Given the description of an element on the screen output the (x, y) to click on. 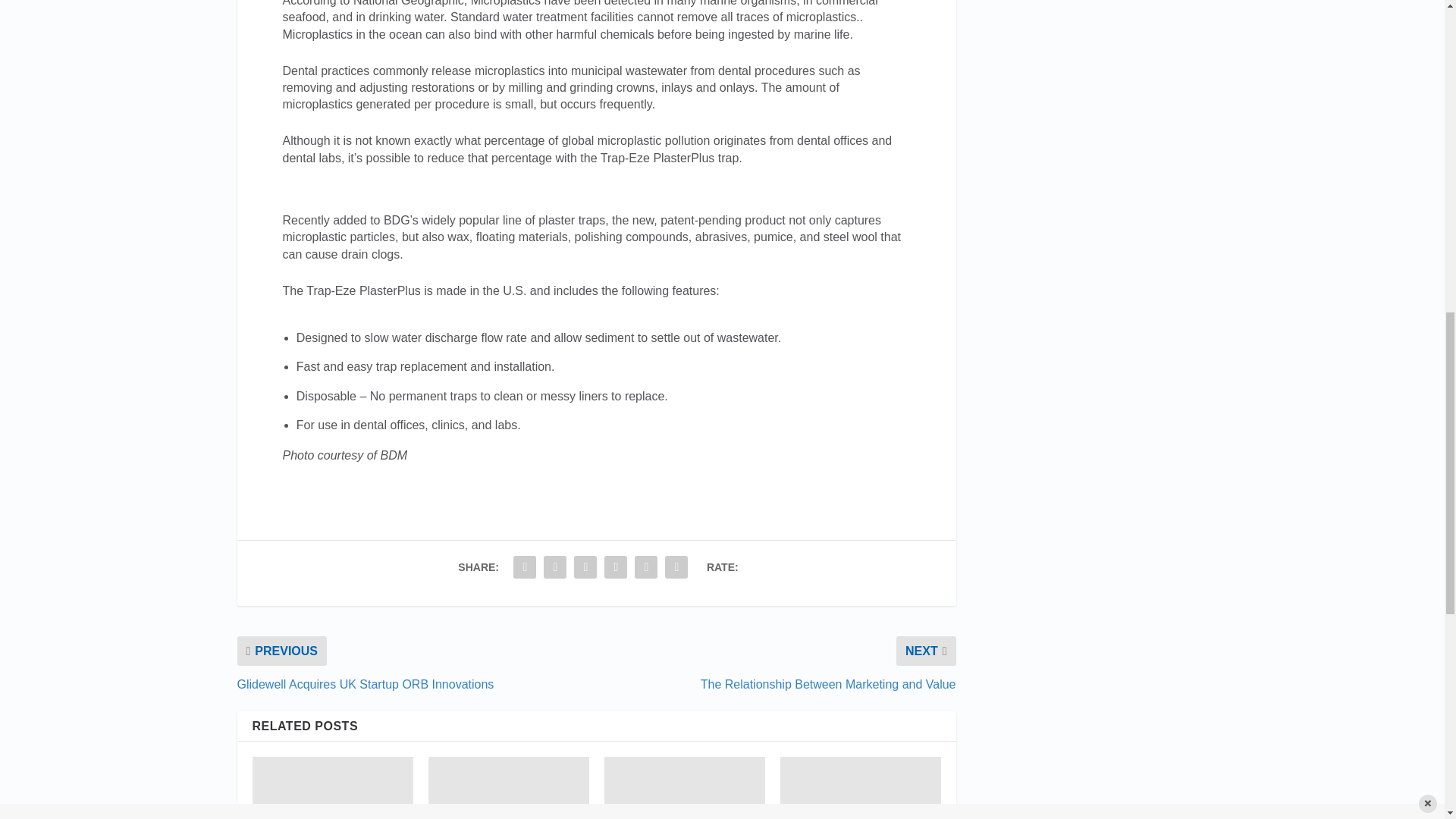
Share "Trap-Eze Plaster Plus Traps Microplastics" via Email (645, 567)
OSHA Spotlights Respiratory Protection During Pandemic (859, 787)
Share "Trap-Eze Plaster Plus Traps Microplastics" via Print (676, 567)
Share "Trap-Eze Plaster Plus Traps Microplastics" via Buffer (614, 567)
